Given the description of an element on the screen output the (x, y) to click on. 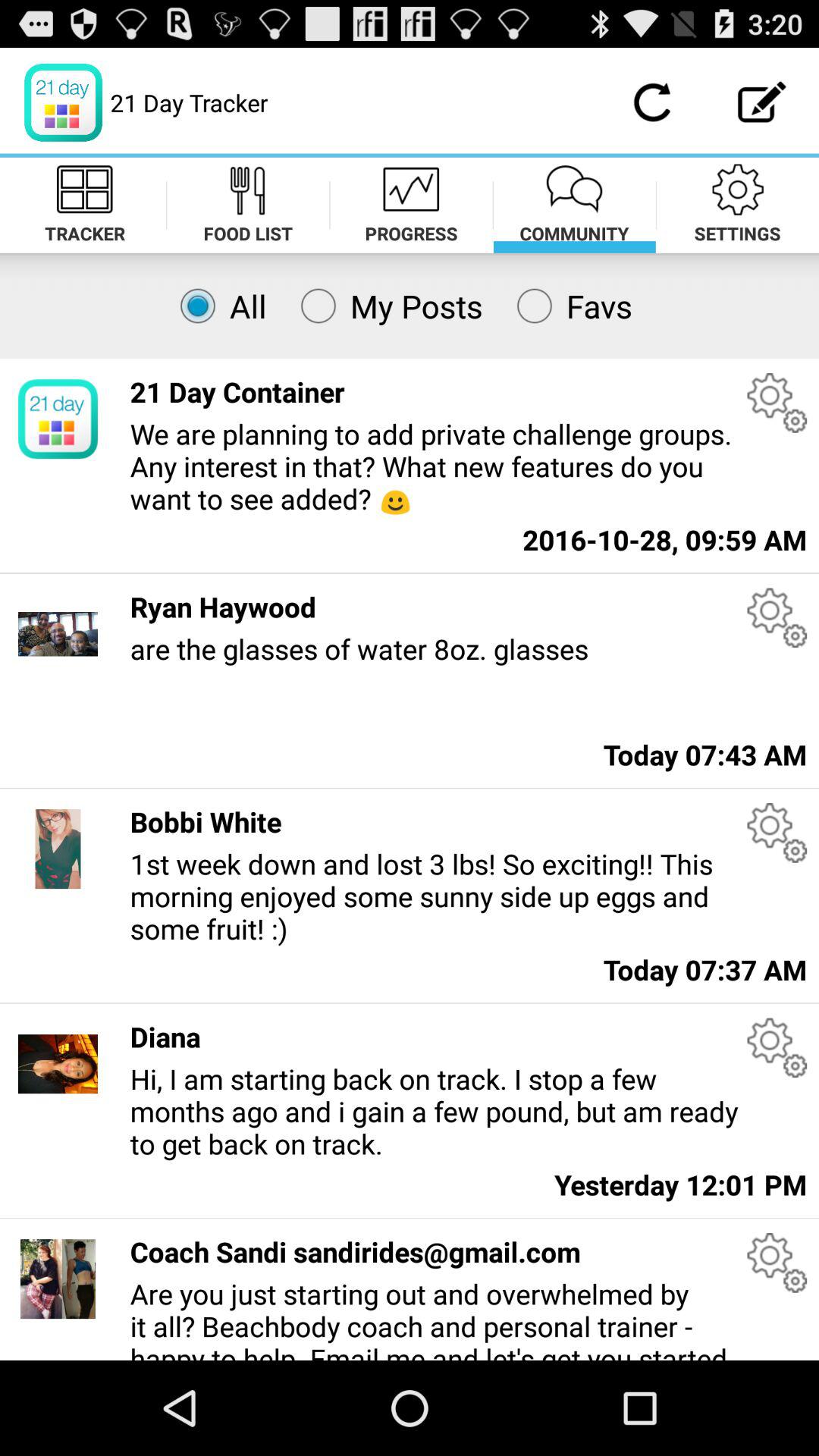
adjust individual settings (777, 1262)
